Given the description of an element on the screen output the (x, y) to click on. 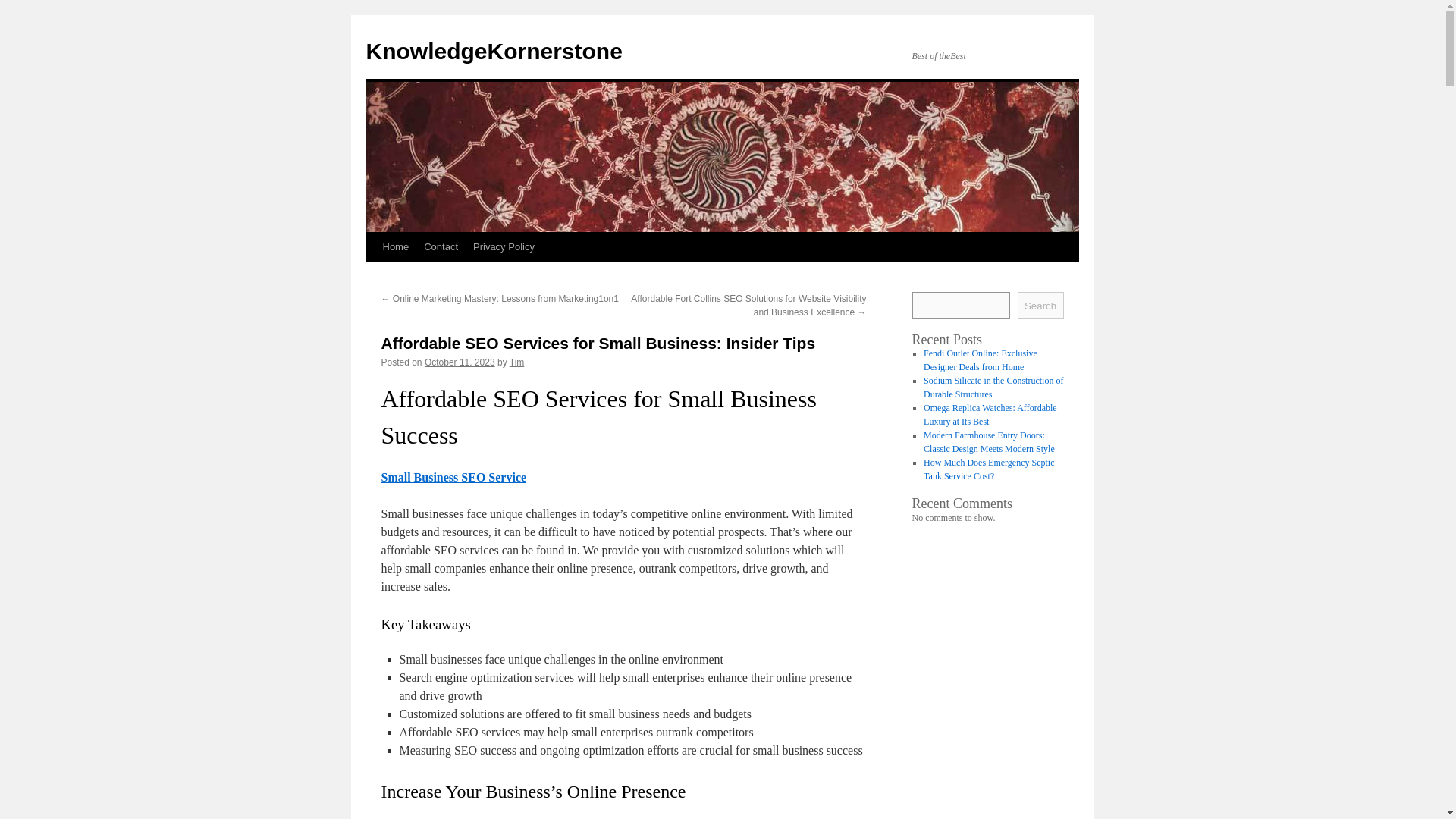
Home (395, 246)
Small Business SEO Service (452, 477)
Tim (516, 362)
Privacy Policy (503, 246)
Omega Replica Watches: Affordable Luxury at Its Best (990, 414)
How Much Does Emergency Septic Tank Service Cost? (988, 469)
2:52 am (460, 362)
Sodium Silicate in the Construction of Durable Structures (992, 387)
Search (1040, 305)
Contact (440, 246)
